Given the description of an element on the screen output the (x, y) to click on. 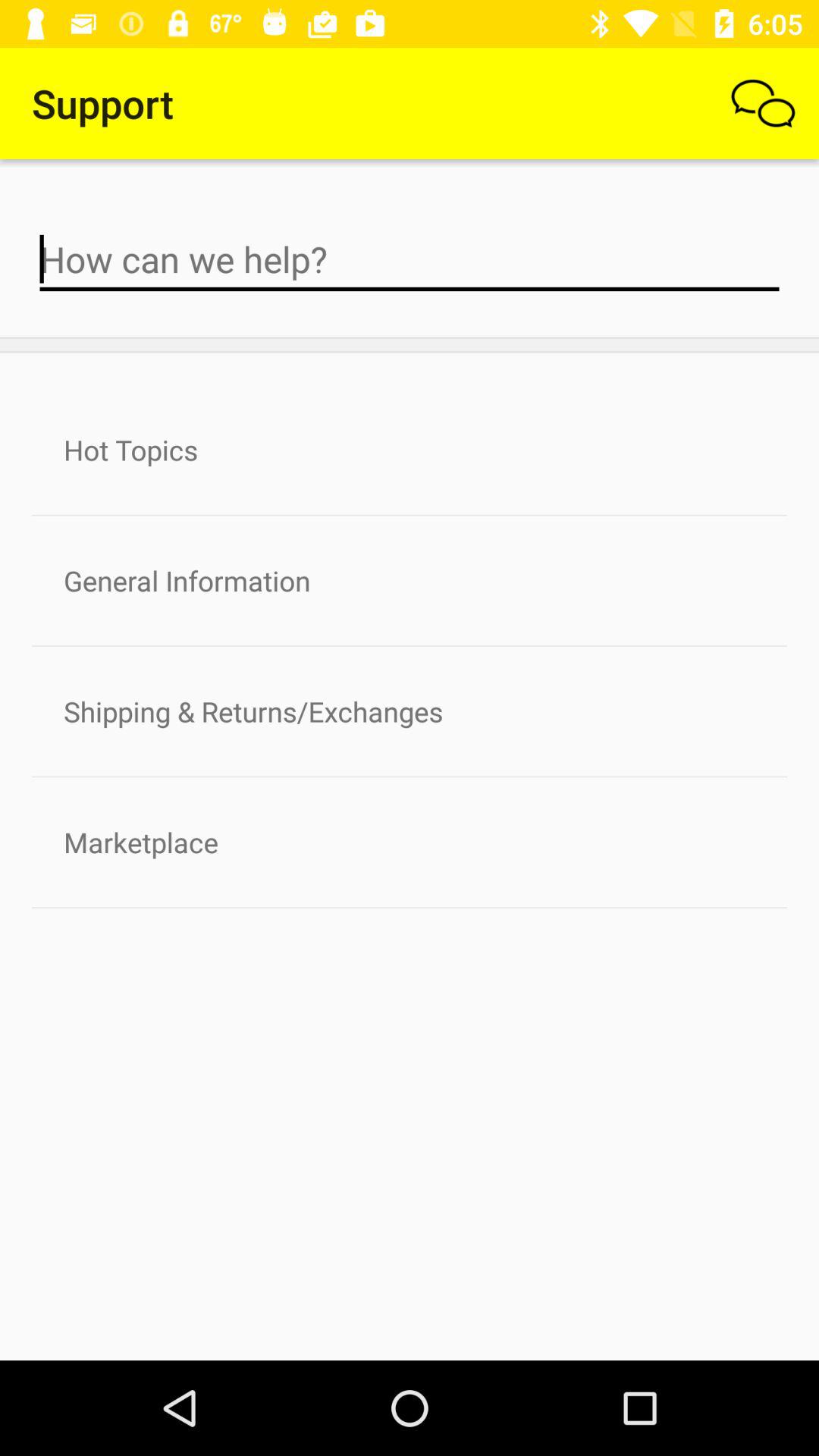
turn off the marketplace (409, 842)
